Given the description of an element on the screen output the (x, y) to click on. 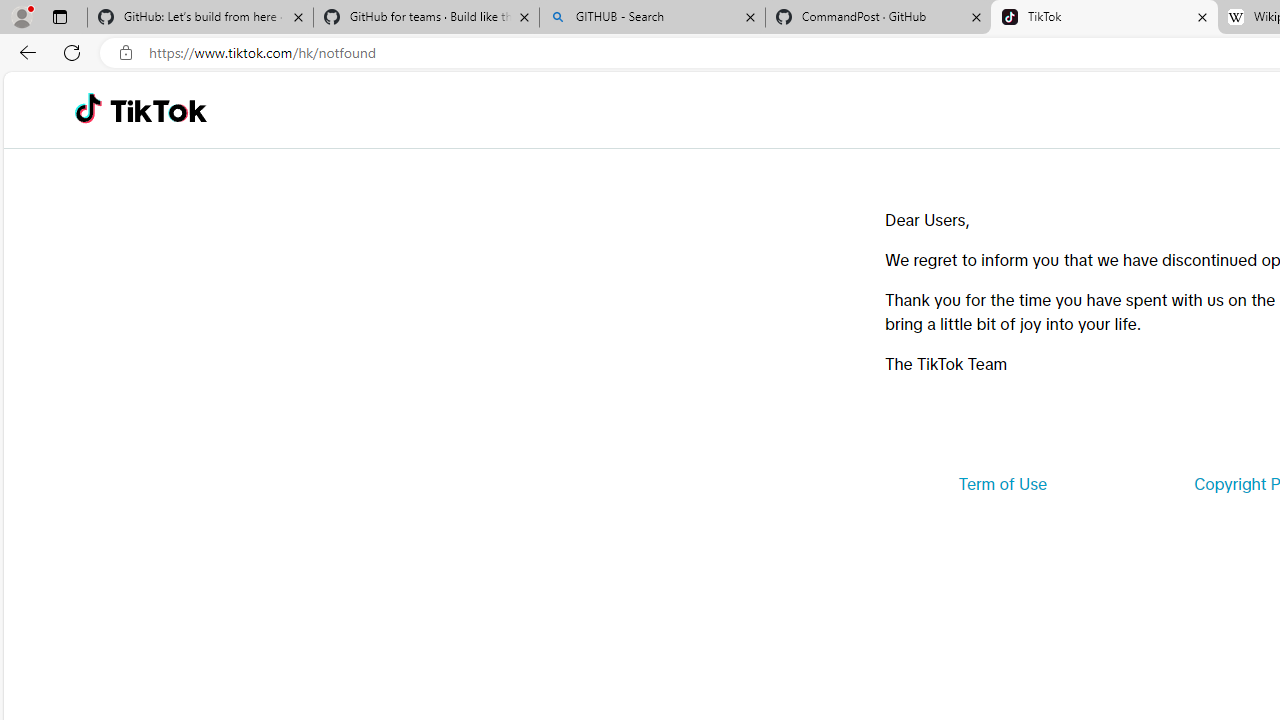
TikTok (1104, 17)
Term of Use (1002, 484)
TikTok (158, 110)
GITHUB - Search (652, 17)
View site information (125, 53)
Tab actions menu (59, 16)
Refresh (72, 52)
